Given the description of an element on the screen output the (x, y) to click on. 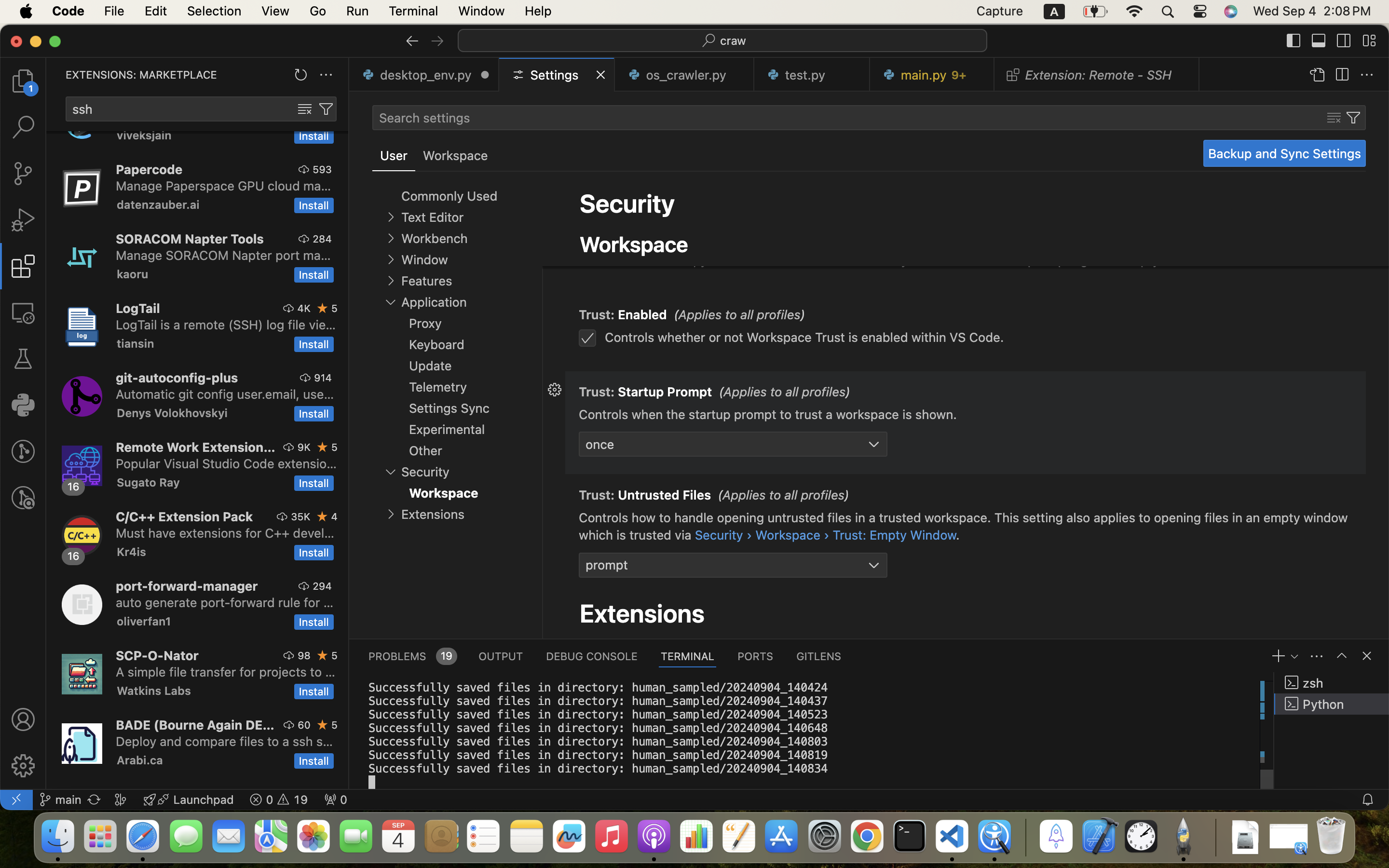
 Element type: AXButton (1366, 655)
 Element type: AXButton (1316, 74)
Window Element type: AXStaticText (424, 259)
 Element type: AXButton (1369, 40)
0 desktop_env.py   Element type: AXRadioButton (424, 74)
